Given the description of an element on the screen output the (x, y) to click on. 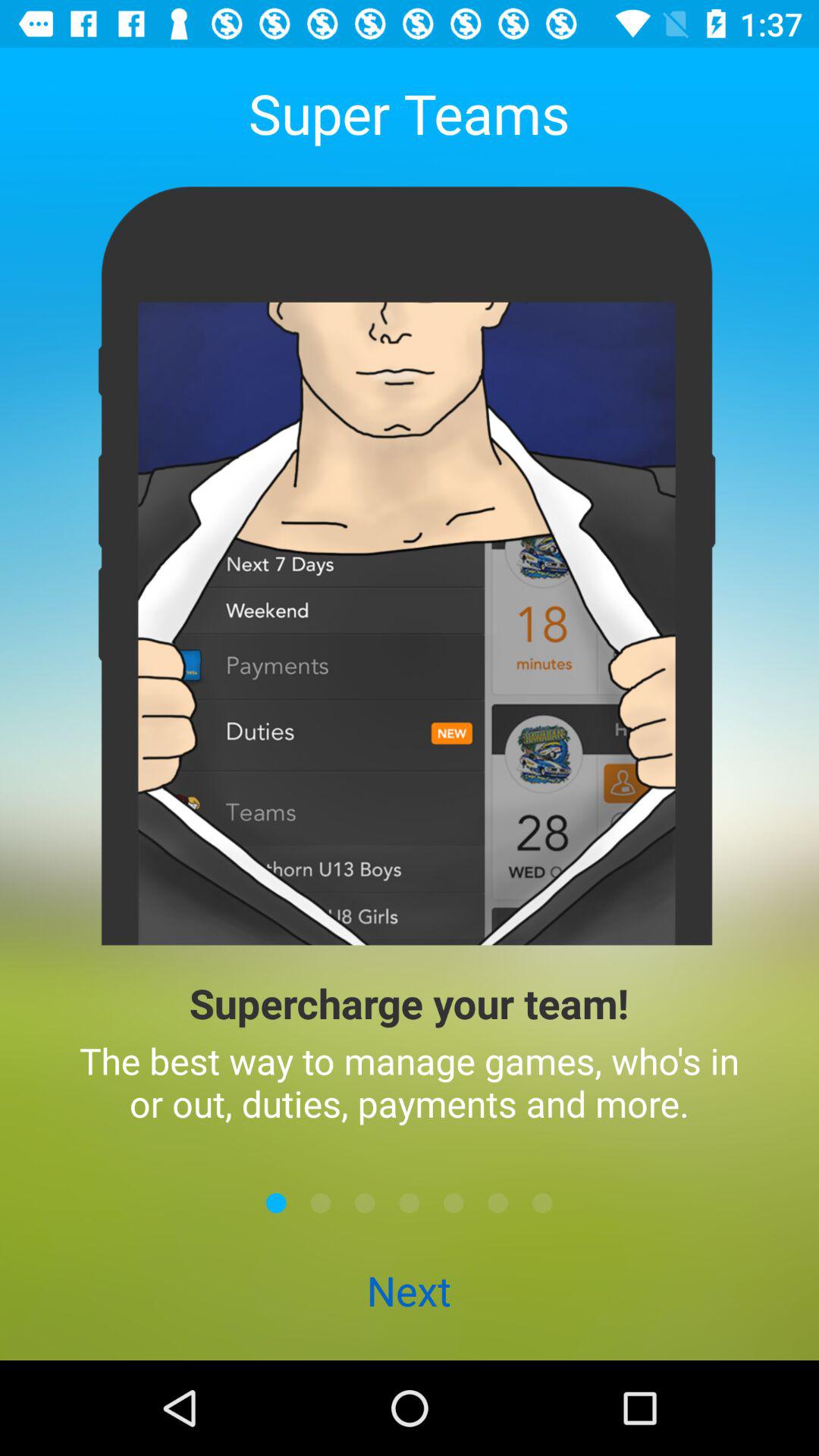
scroll to third screen (364, 1203)
